Given the description of an element on the screen output the (x, y) to click on. 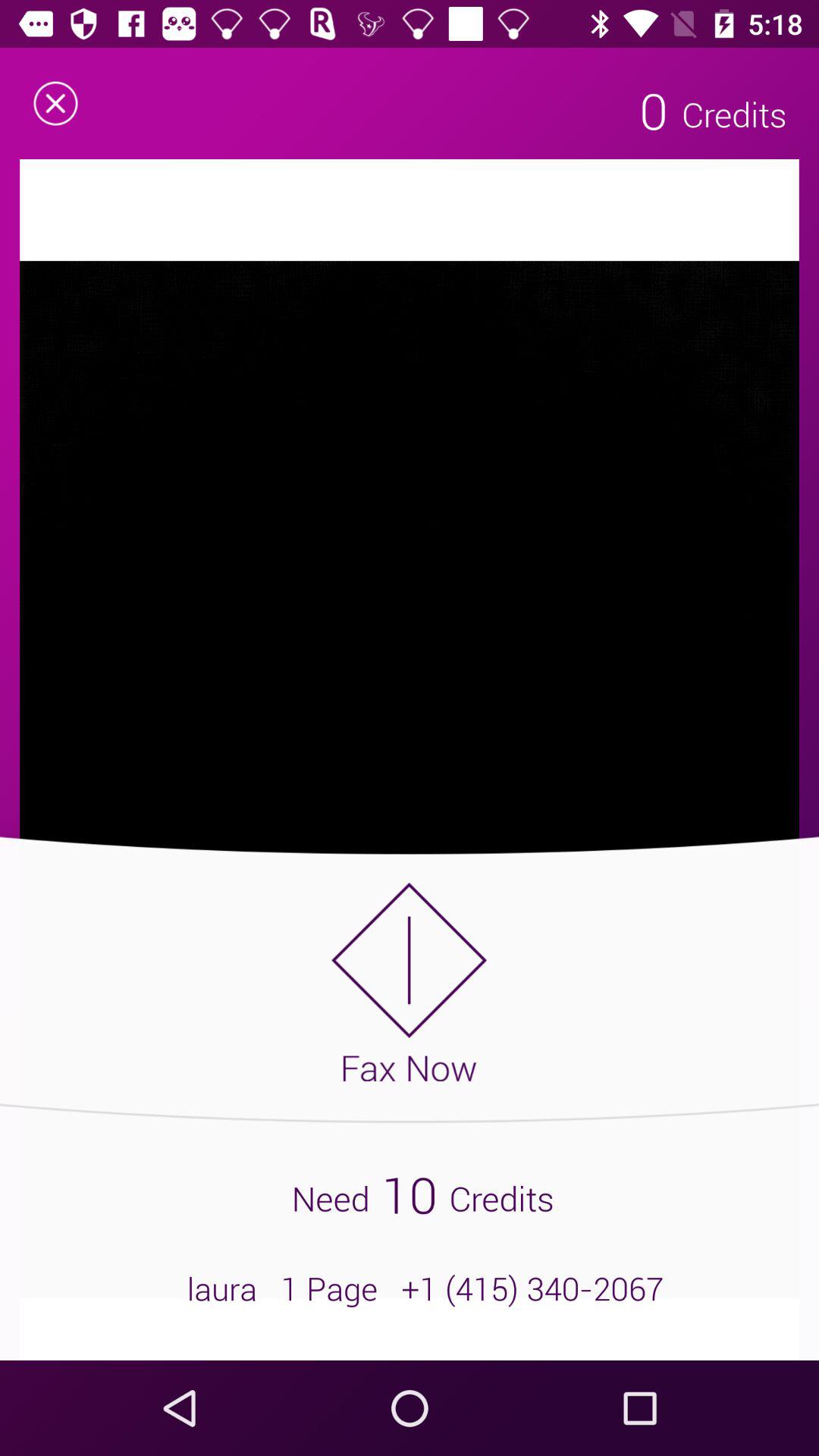
open the app to the left of the credits icon (653, 109)
